Given the description of an element on the screen output the (x, y) to click on. 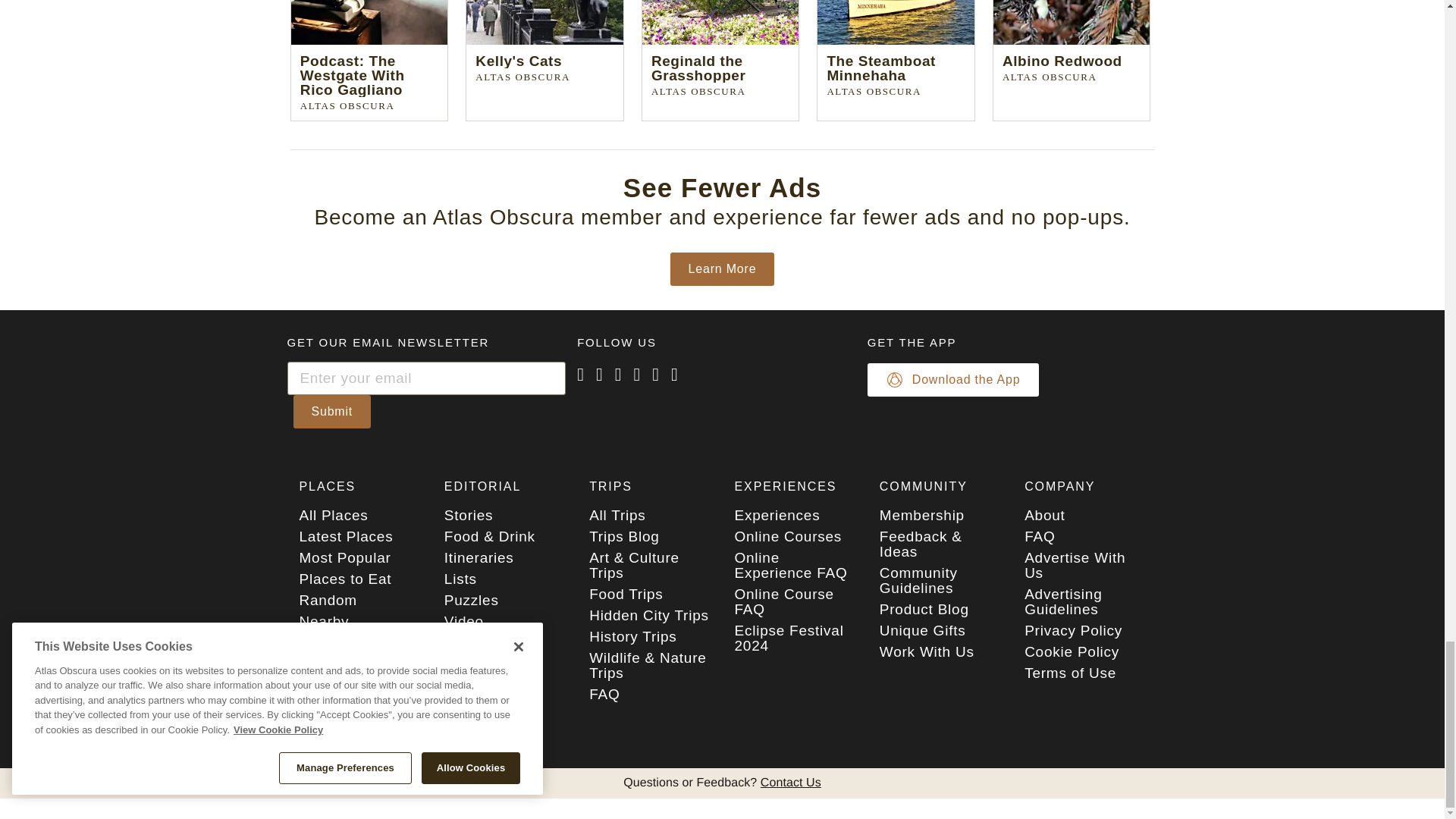
Submit (331, 411)
